Given the description of an element on the screen output the (x, y) to click on. 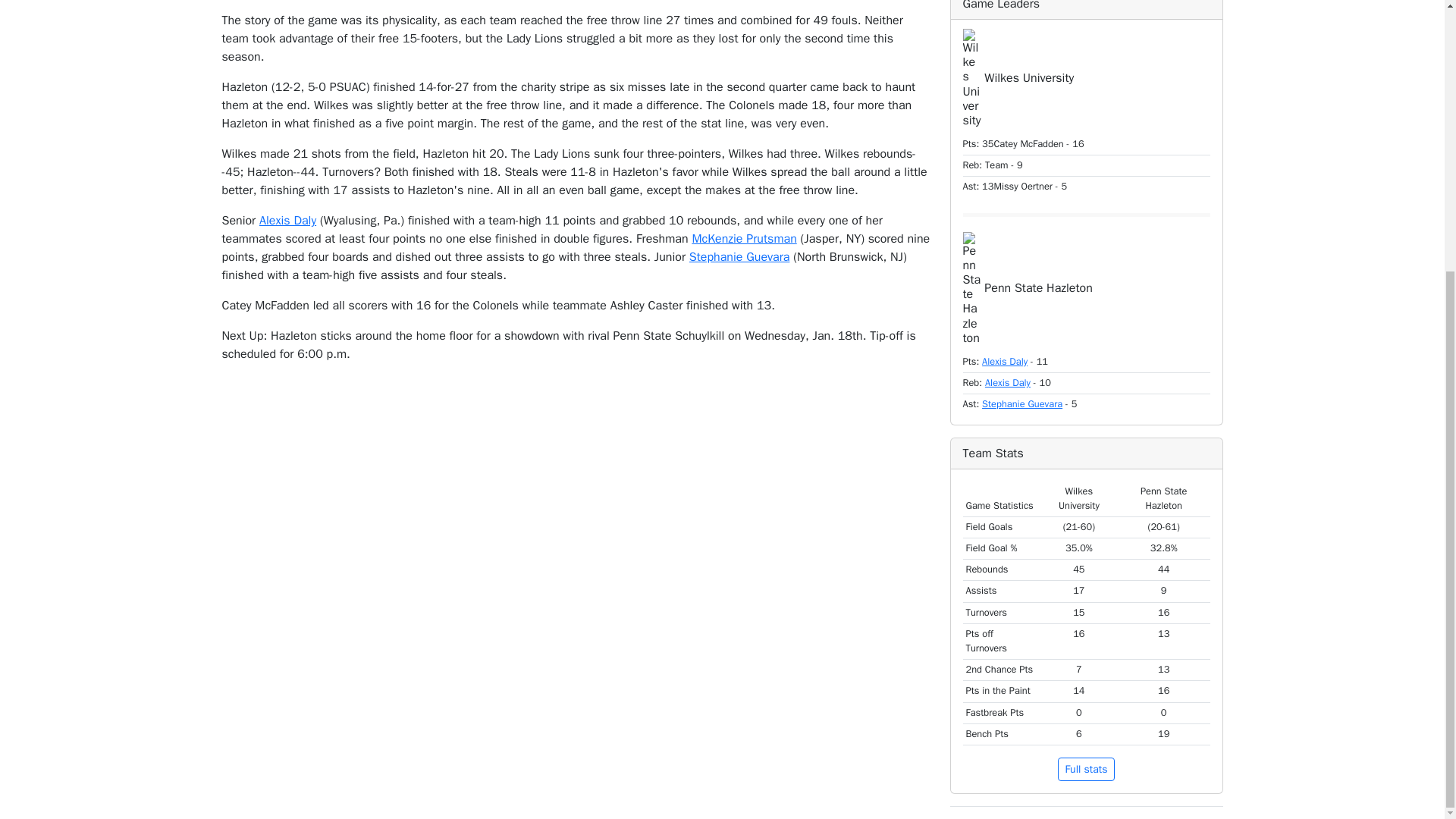
Alexis Daly (287, 220)
Alexis Daly (1007, 382)
Stephanie Guevara (1021, 404)
Stephanie Guevara (739, 256)
Full stats (1085, 769)
McKenzie Prutsman (743, 238)
Alexis Daly (1004, 361)
